Given the description of an element on the screen output the (x, y) to click on. 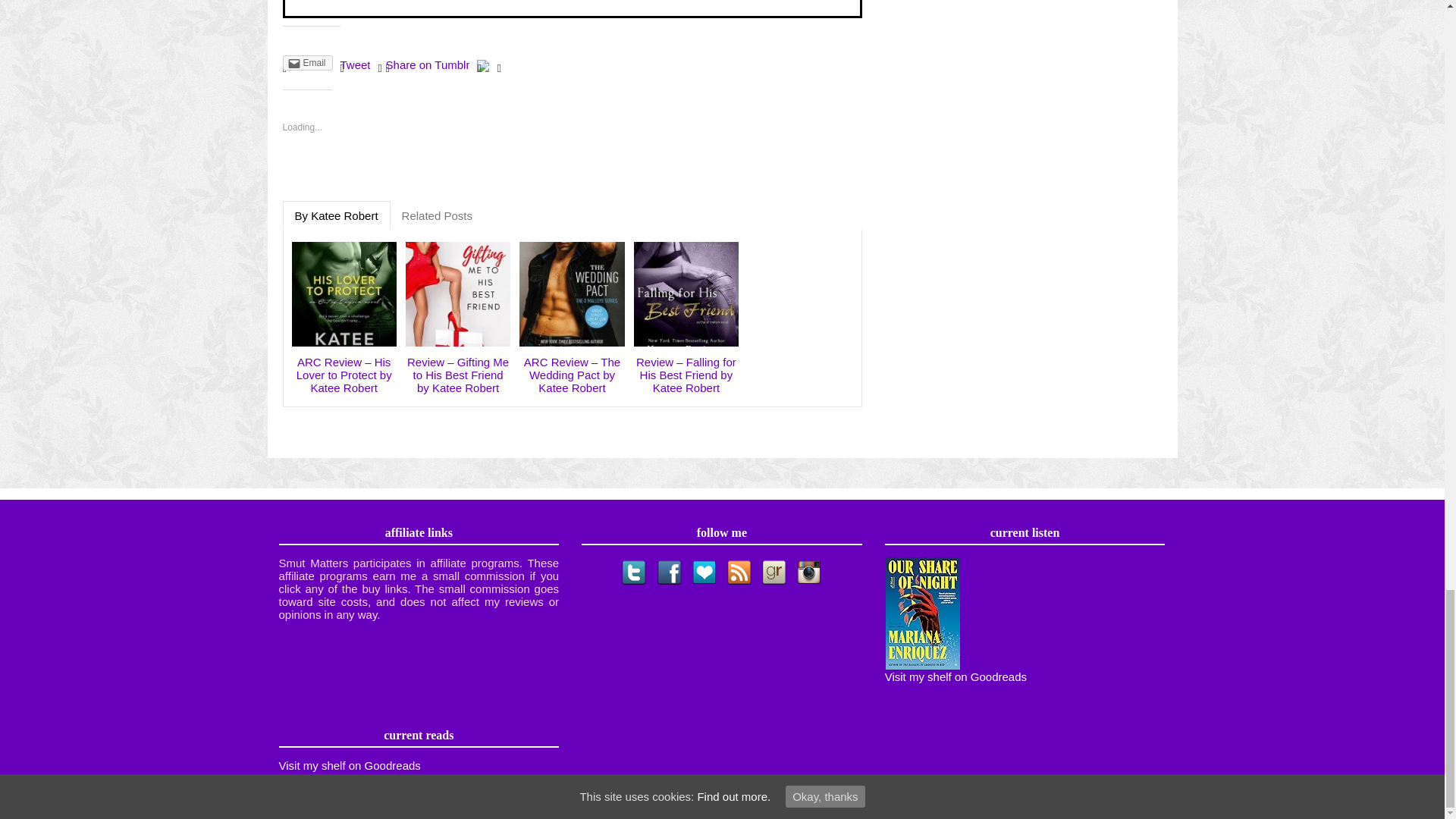
Email (306, 62)
Click to email this to a friend (306, 62)
Share on Tumblr (427, 64)
Tweet (355, 64)
